Given the description of an element on the screen output the (x, y) to click on. 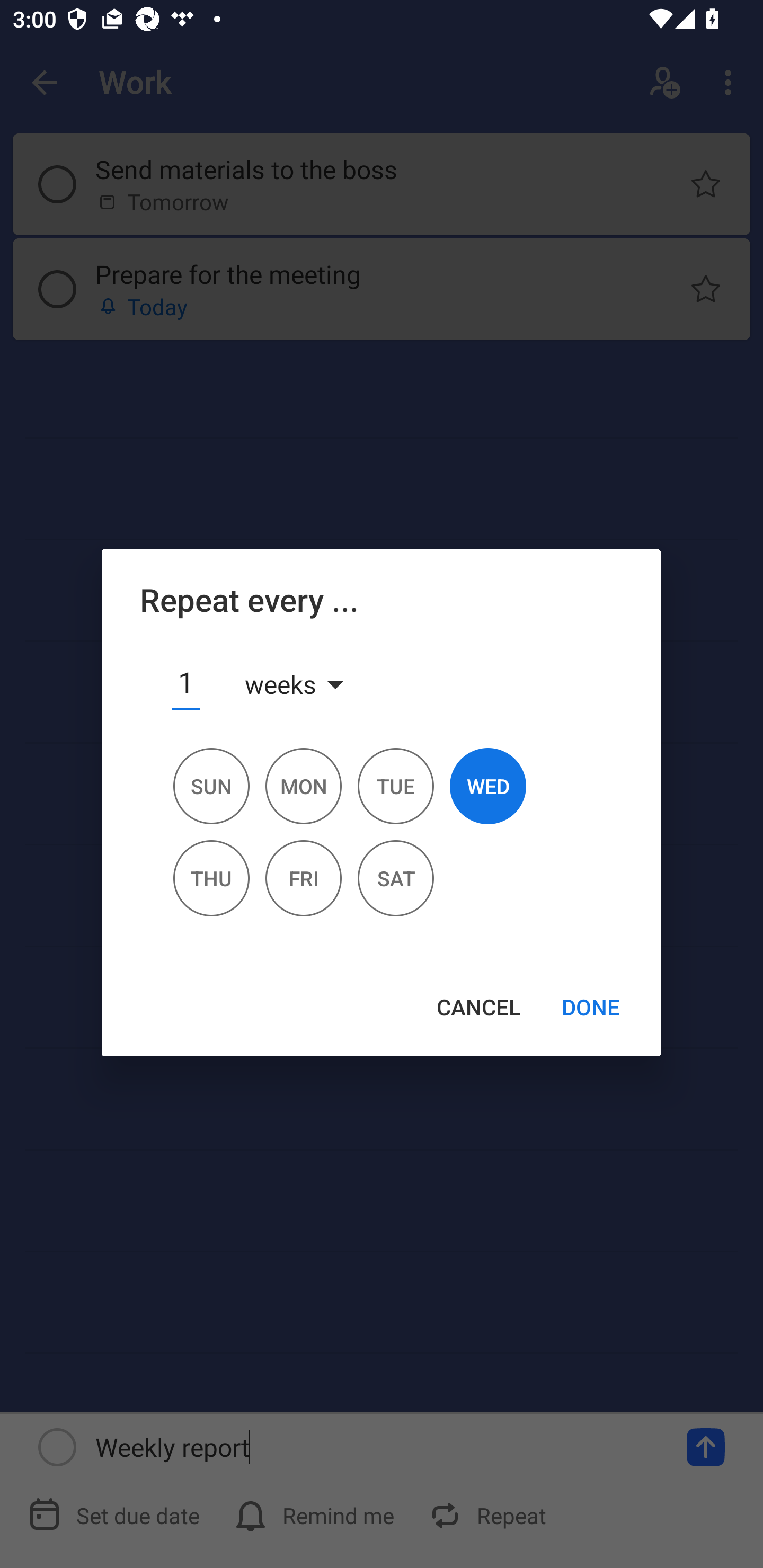
MON Monday (303, 793)
